Given the description of an element on the screen output the (x, y) to click on. 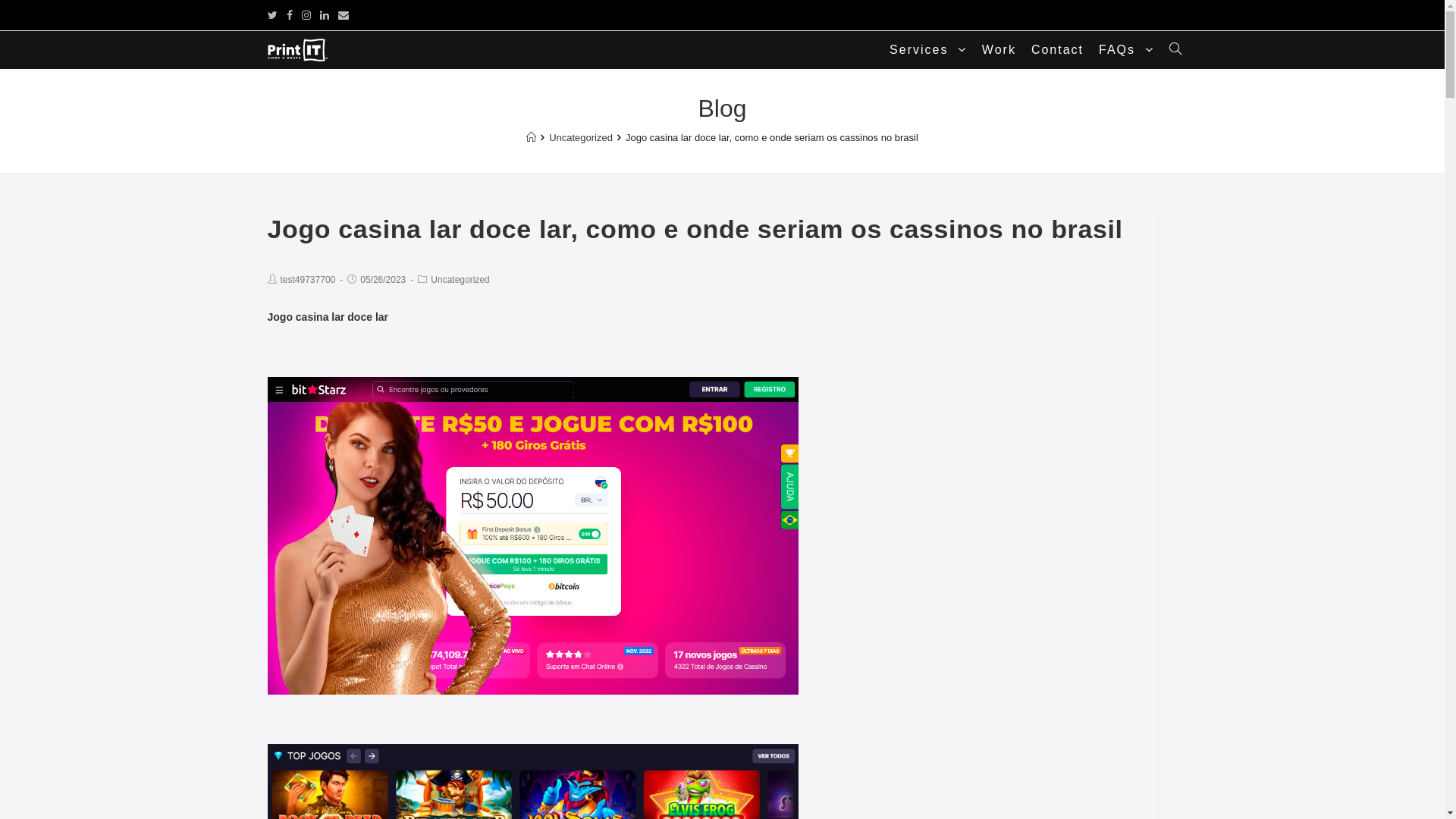
Stickers Element type: text (1035, 746)
Contact Element type: text (1057, 50)
Contact Element type: text (779, 784)
test49737700 Element type: text (307, 279)
Work Element type: text (998, 50)
Custom Cut Shapes Element type: text (774, 755)
Substrates Element type: text (852, 784)
LinkedIn Element type: hover (324, 14)
Edge Control Labels Element type: text (836, 764)
Giant Checks Element type: text (1088, 746)
Jogo casina lar doce lar Element type: text (327, 316)
Jogo casina lar doce lar Element type: hover (531, 535)
Uncategorized Element type: text (580, 137)
Work Element type: text (744, 784)
Vehicle Wraps Element type: text (912, 746)
Large-Format Printing Element type: text (988, 755)
Wall Graphics Element type: text (906, 755)
Floor Graphics Element type: text (763, 746)
Email Element type: hover (343, 14)
XL Yard Signs Element type: text (980, 746)
FAQs Element type: text (817, 786)
Facebook Element type: hover (289, 14)
Backdrops Element type: text (846, 755)
Twitter Element type: hover (273, 14)
Instagram Element type: hover (306, 14)
Photography Element type: text (759, 764)
Services Element type: text (1159, 737)
Window Graphics Element type: text (838, 746)
Services Element type: text (927, 50)
FAQs Element type: text (1126, 50)
Design & Branding Element type: text (1080, 755)
Uncategorized Element type: text (459, 279)
